Given the description of an element on the screen output the (x, y) to click on. 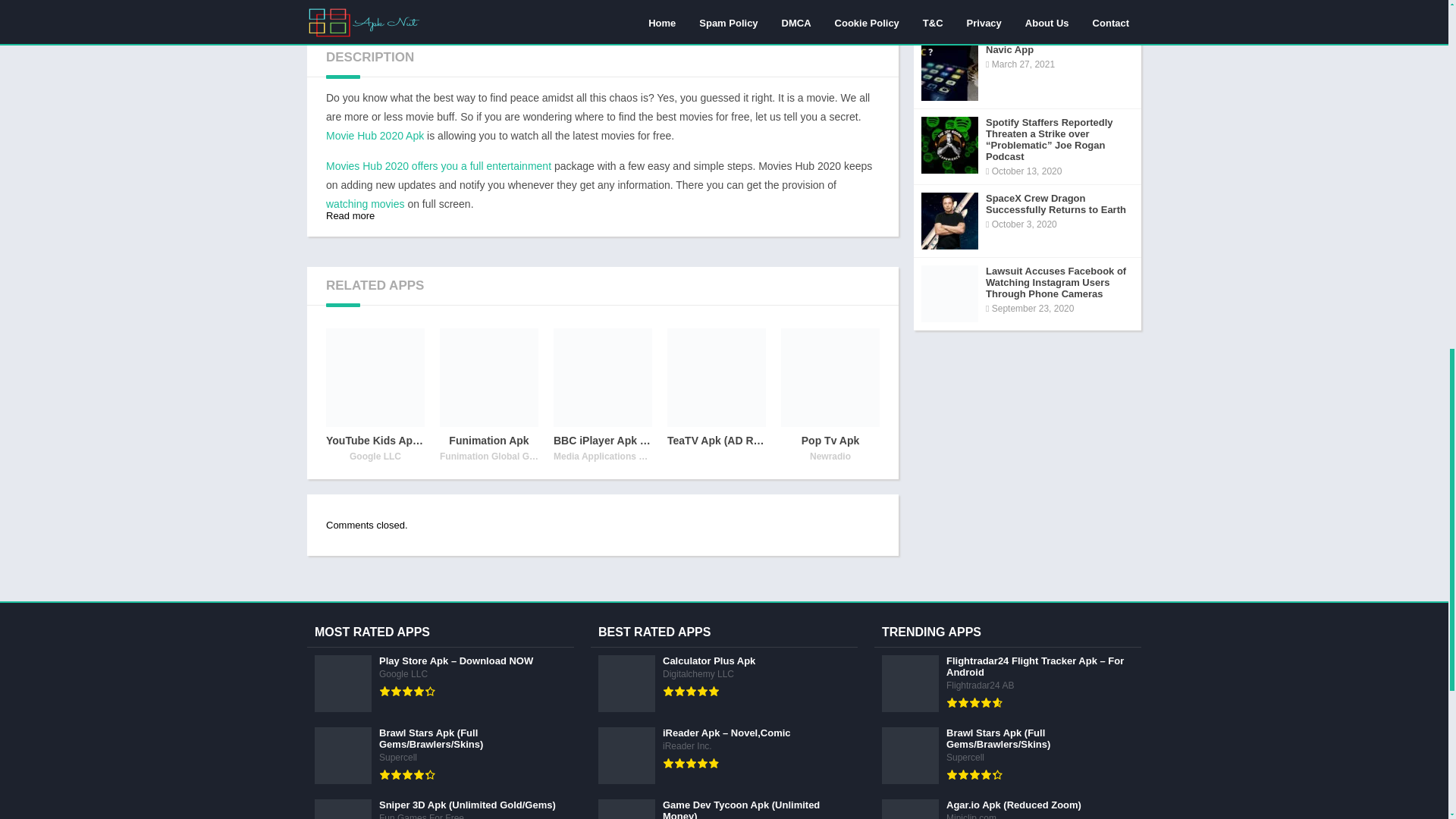
Advertisement (602, 11)
